Given the description of an element on the screen output the (x, y) to click on. 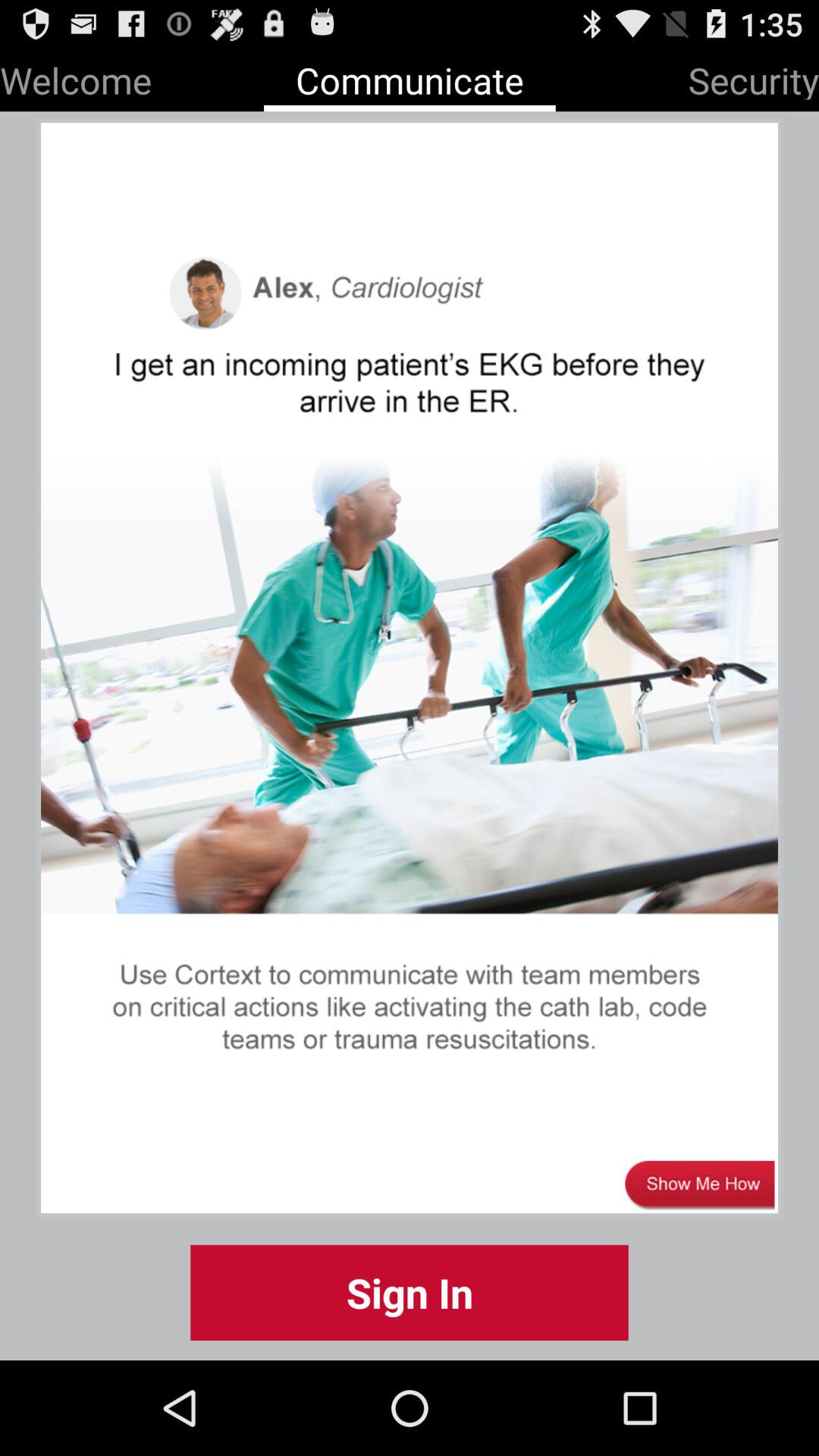
launch the welcome icon (75, 77)
